Given the description of an element on the screen output the (x, y) to click on. 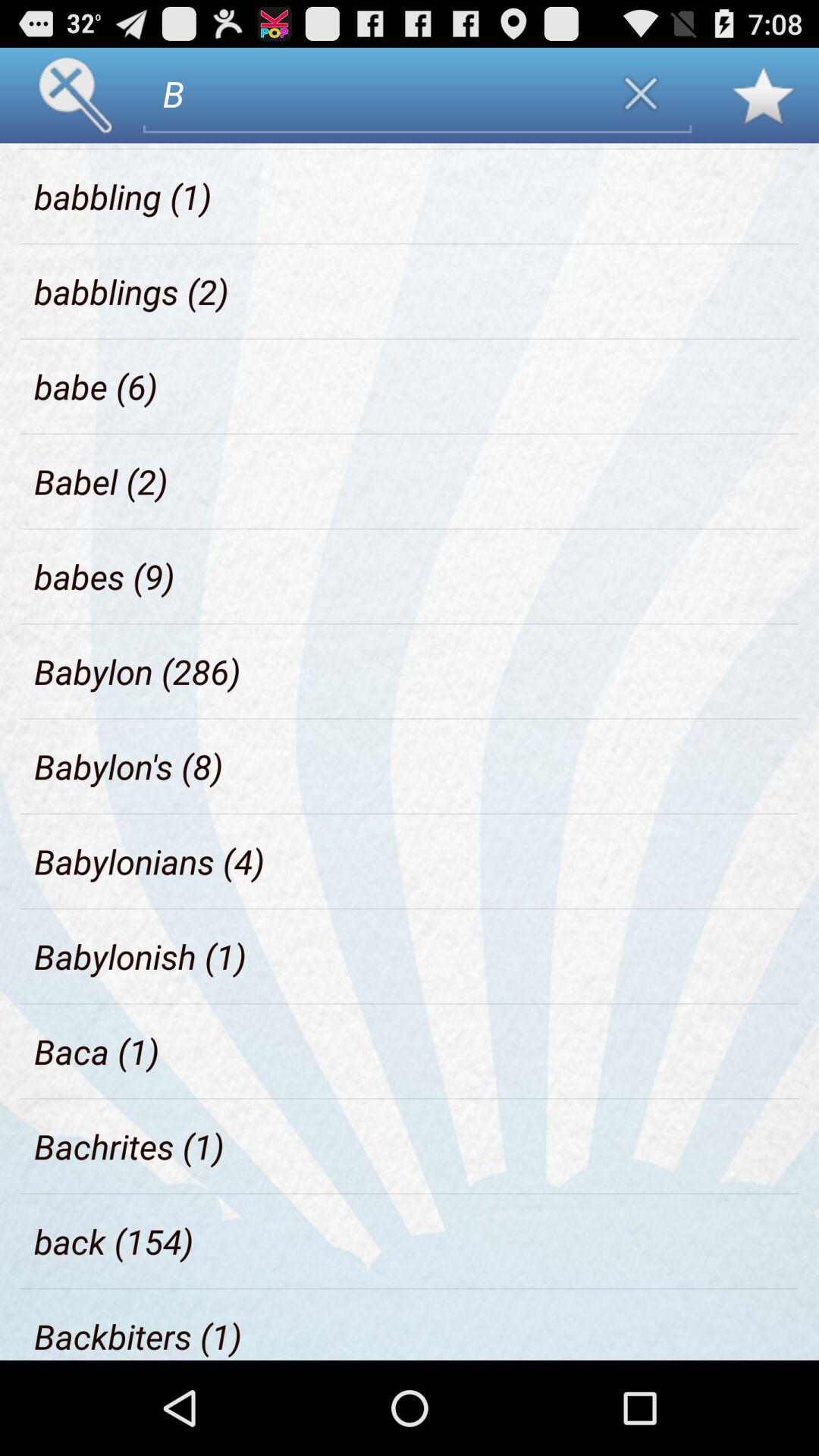
press babylonians (4) (149, 861)
